Given the description of an element on the screen output the (x, y) to click on. 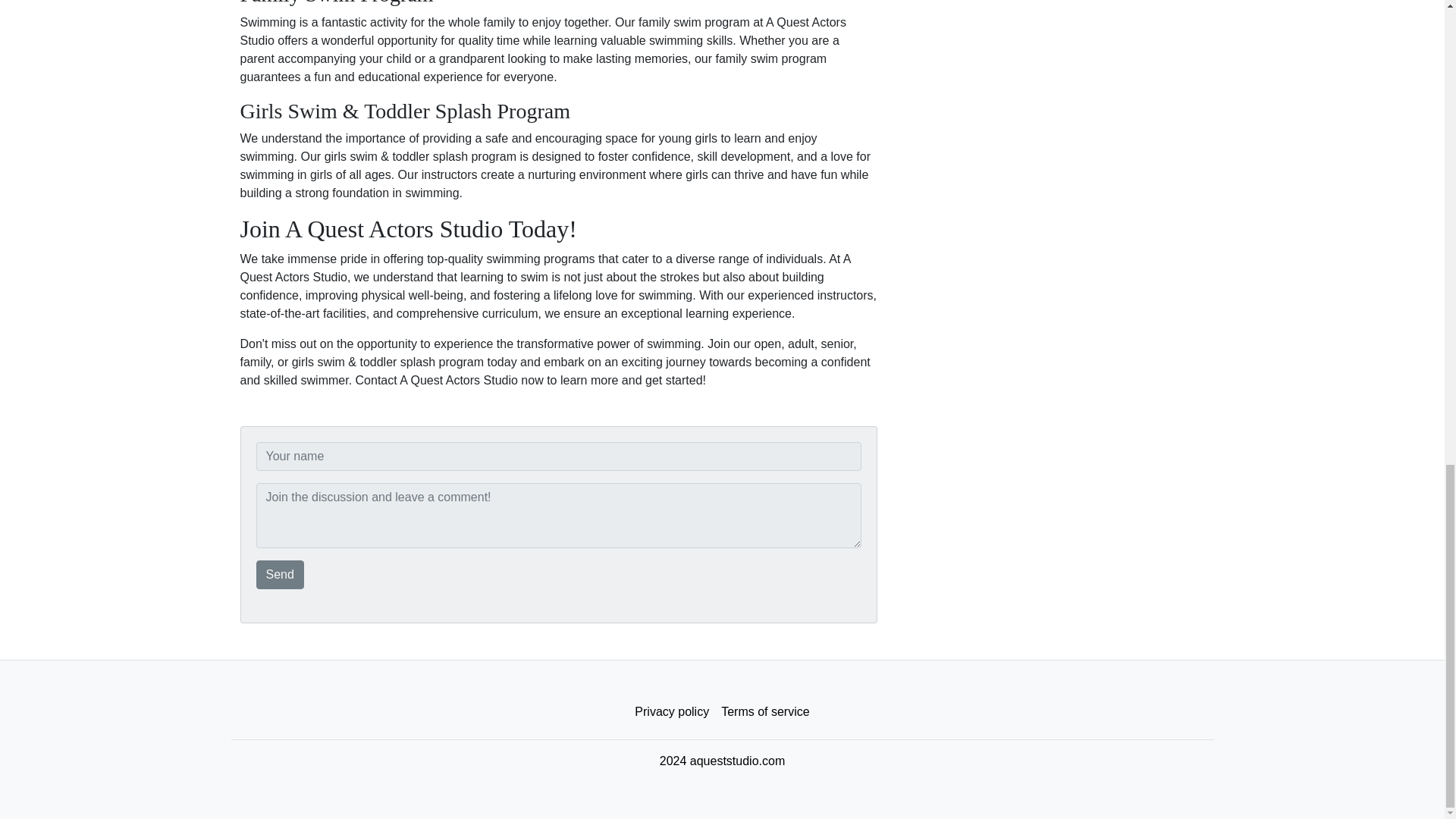
Send (280, 574)
Terms of service (764, 711)
Privacy policy (671, 711)
Send (280, 574)
